Given the description of an element on the screen output the (x, y) to click on. 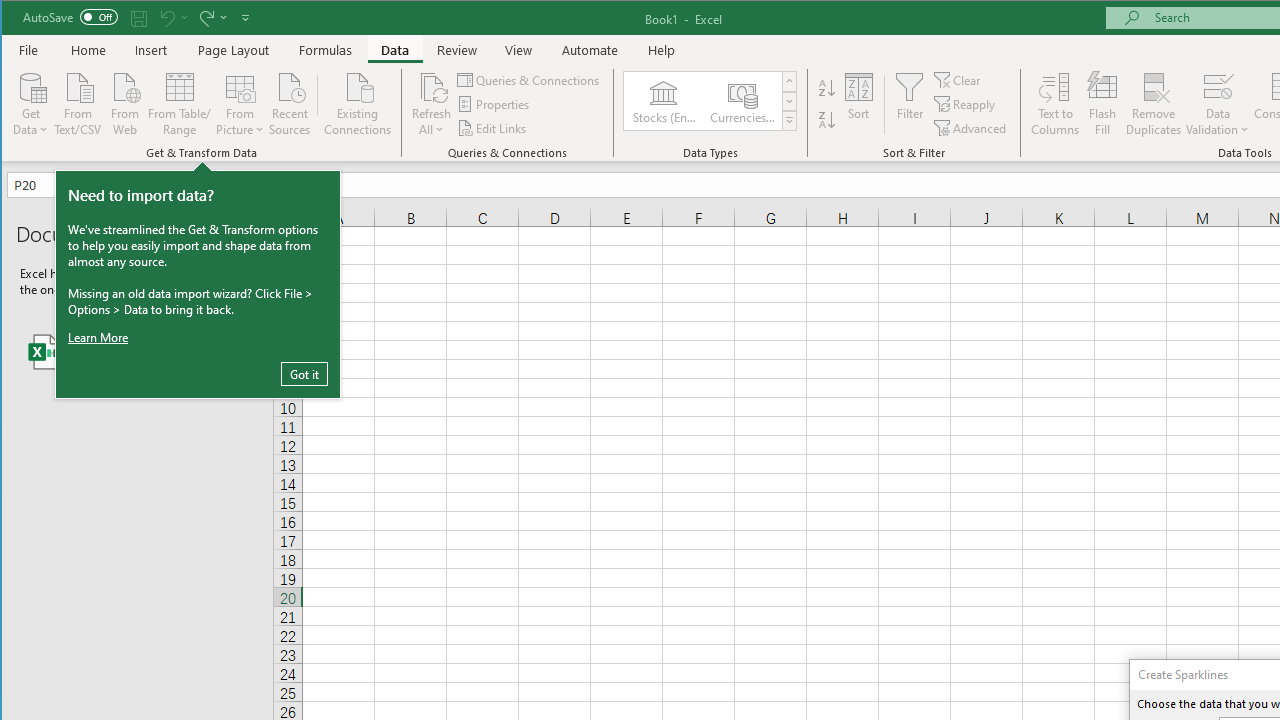
Refresh All (431, 86)
Reapply (966, 103)
Page Layout (233, 50)
Review (456, 50)
Clear (958, 80)
Existing Connections (358, 101)
Remove Duplicates (1153, 104)
Undo (172, 17)
Open (99, 184)
Formulas (326, 50)
Get Data (31, 101)
Advanced... (971, 127)
Row up (789, 81)
Learn More (99, 337)
Automate (589, 50)
